Given the description of an element on the screen output the (x, y) to click on. 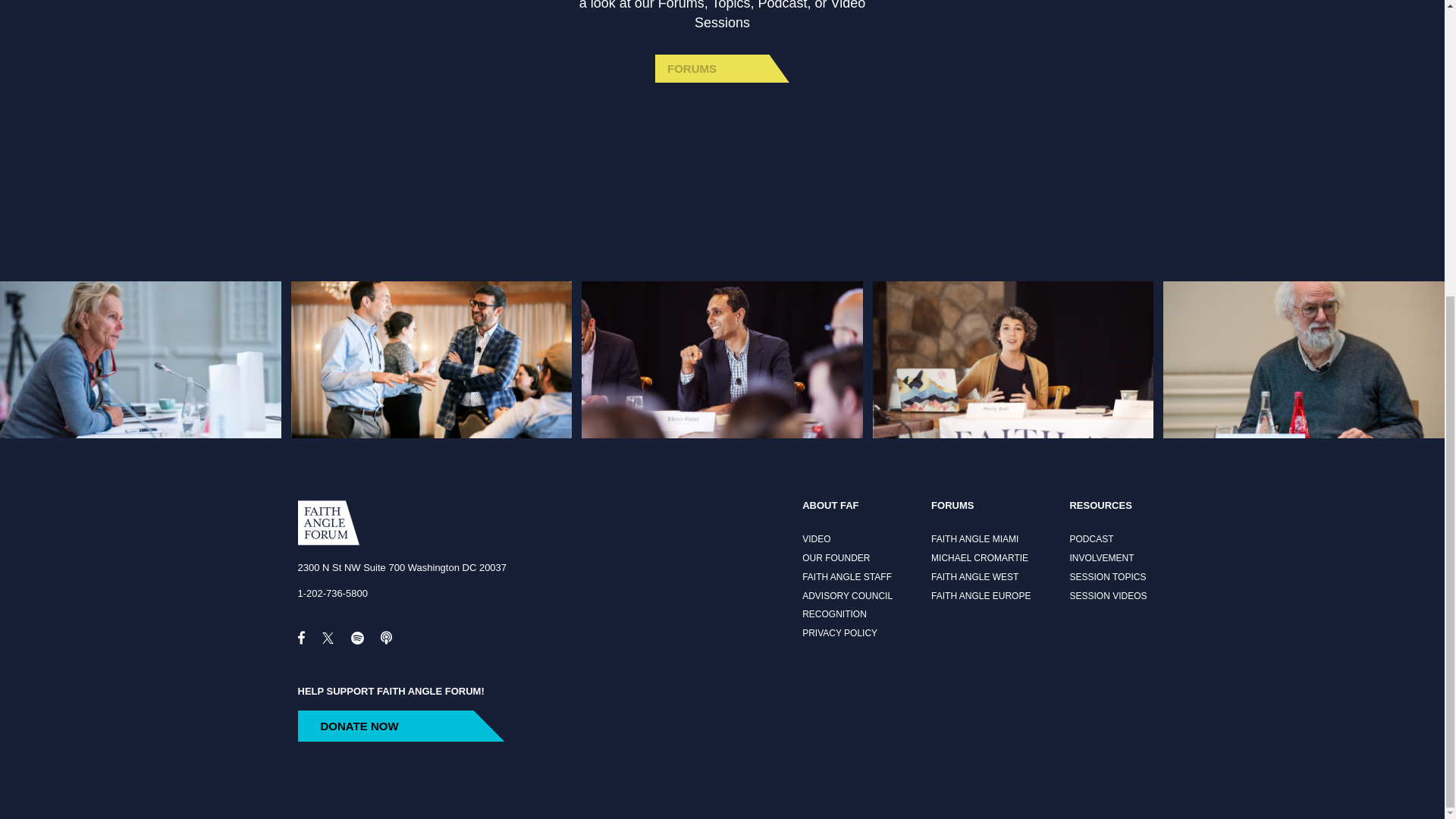
ABOUT FAF (847, 505)
1-202-736-5800 (332, 593)
FORUMS (722, 68)
ADVISORY COUNCIL (847, 596)
FORUMS (722, 68)
RECOGNITION (847, 614)
FORUMS (980, 505)
FAITH ANGLE STAFF (847, 577)
2300 N St NW Suite 700 Washington DC 20037 (401, 567)
VIDEO (847, 539)
OUR FOUNDER (847, 558)
PRIVACY POLICY (847, 633)
